Given the description of an element on the screen output the (x, y) to click on. 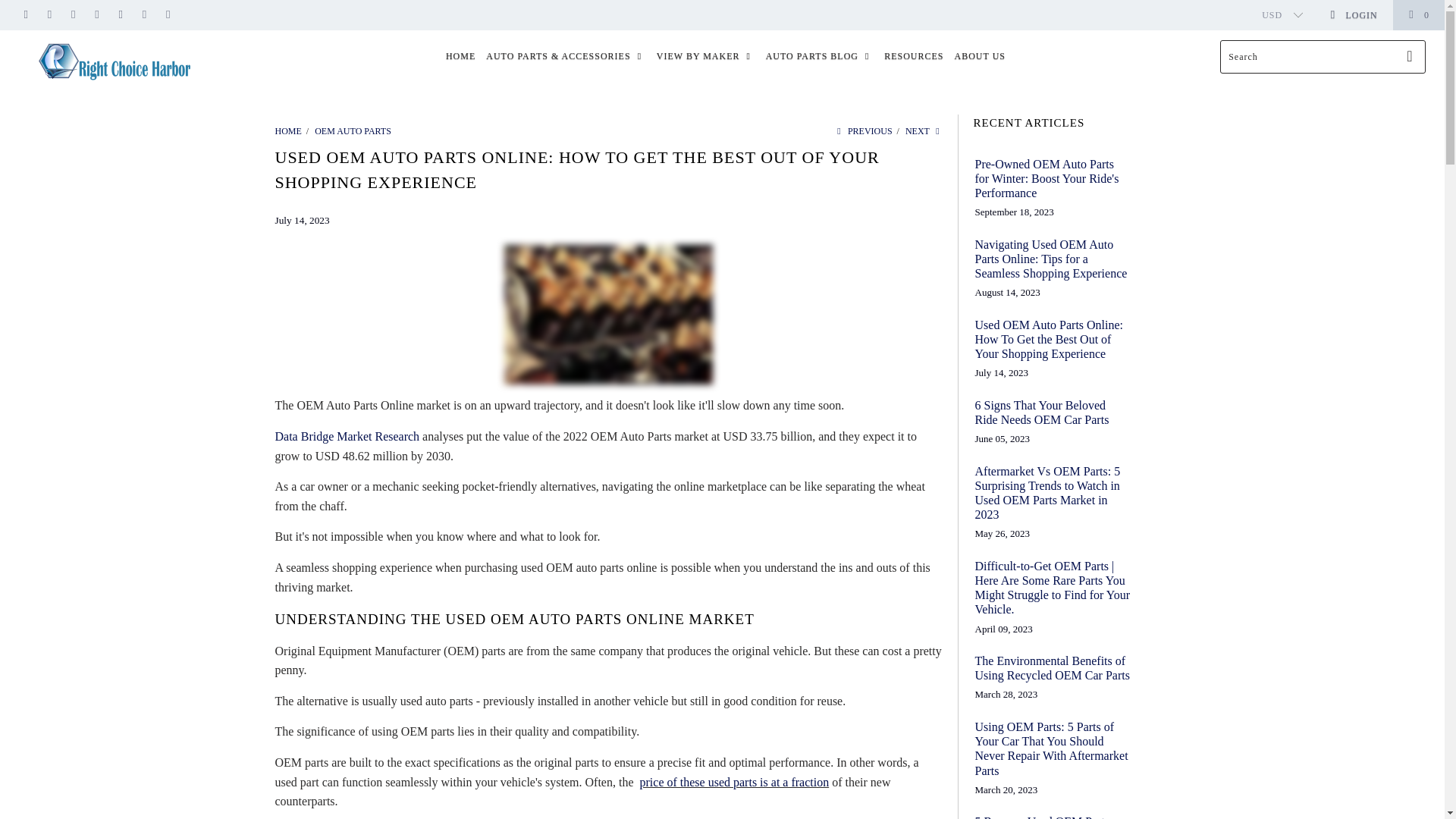
rightchoiceautoparts (115, 60)
rightchoiceautoparts on Facebook (48, 14)
rightchoiceautoparts on Tumblr (119, 14)
rightchoiceautoparts on Instagram (142, 14)
OEM Auto Parts (352, 131)
rightchoiceautoparts on YouTube (73, 14)
My Account  (1352, 15)
rightchoiceautoparts on LinkedIn (166, 14)
rightchoiceautoparts (288, 131)
rightchoiceautoparts on Pinterest (96, 14)
rightchoiceautoparts on Twitter (25, 14)
